Given the description of an element on the screen output the (x, y) to click on. 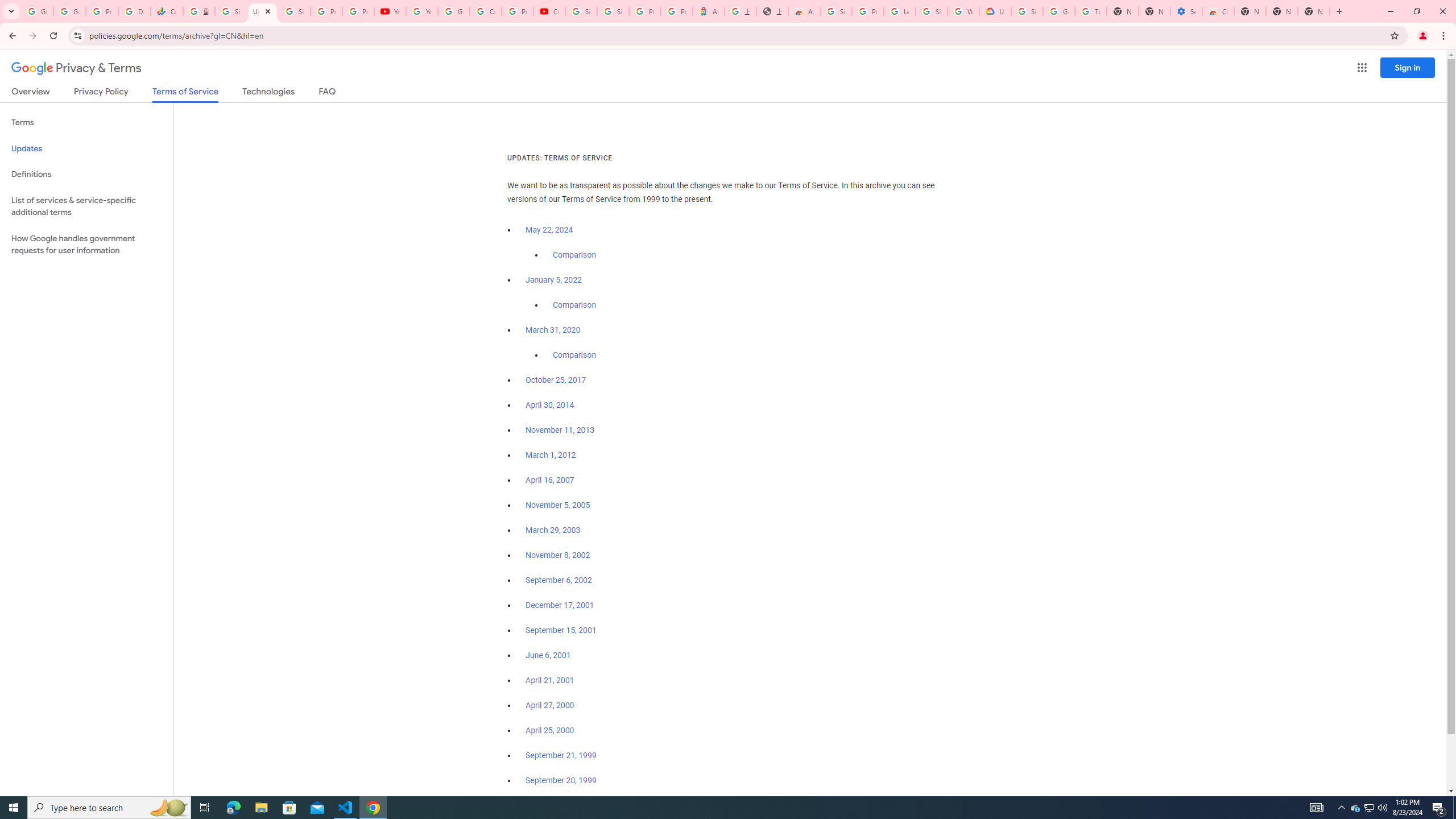
April 30, 2014 (550, 405)
Definitions (86, 174)
Settings - Accessibility (1185, 11)
April 27, 2000 (550, 705)
Sign in - Google Accounts (836, 11)
September 20, 1999 (560, 780)
April 25, 2000 (550, 729)
